Given the description of an element on the screen output the (x, y) to click on. 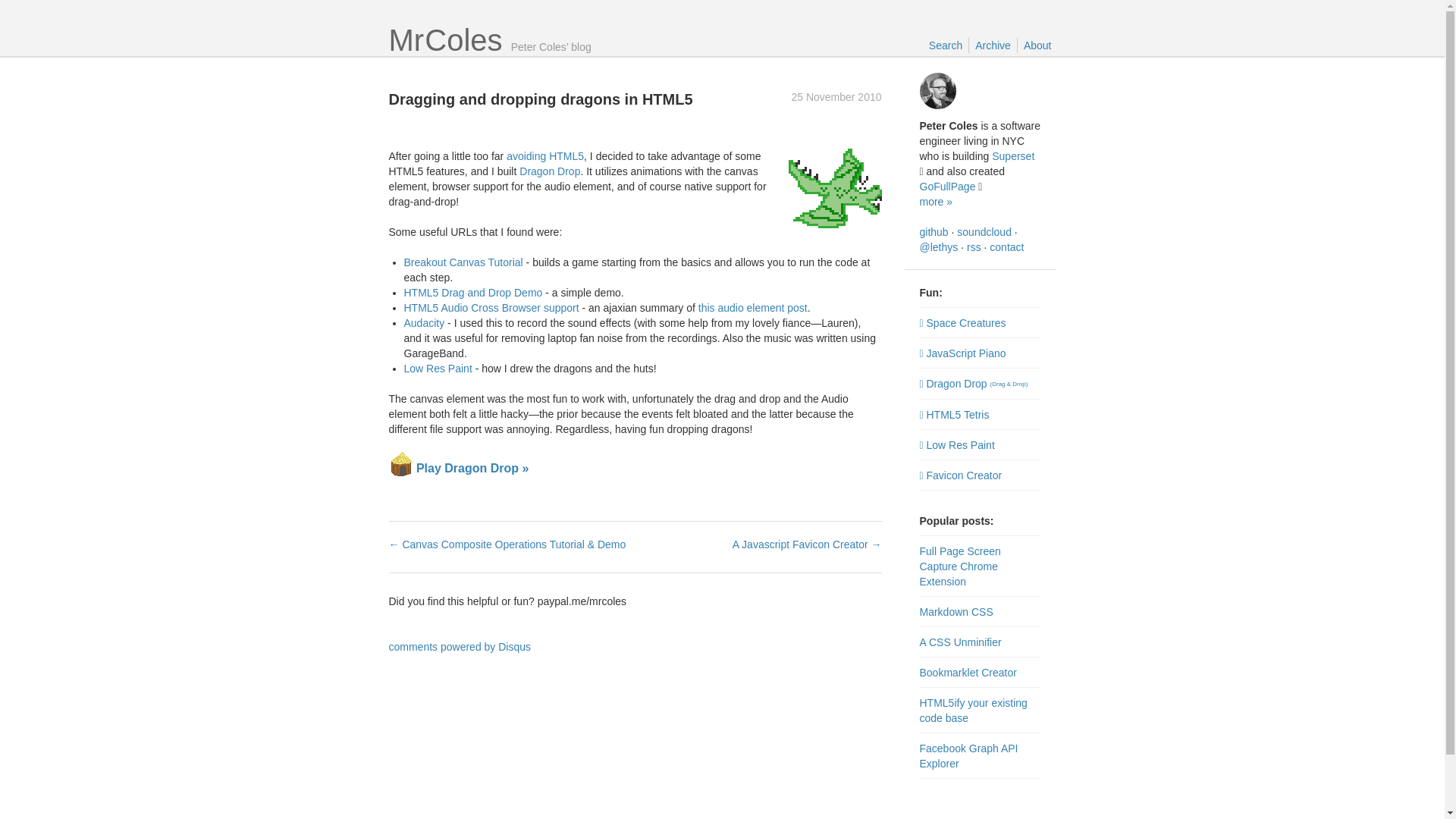
Superset (1012, 155)
HTML5 Audio Cross Browser support (490, 307)
A CSS Unminifier (959, 642)
this audio element post (753, 307)
Dragon Drop (549, 171)
GoFullPage (946, 186)
Mr Coles (445, 39)
Search (945, 45)
Facebook Graph API Explorer (967, 755)
HTML5ify your existing code base (972, 709)
soundcloud (983, 232)
github (932, 232)
A Javascript Favicon Creator (807, 544)
rss (973, 246)
About (1038, 45)
